Given the description of an element on the screen output the (x, y) to click on. 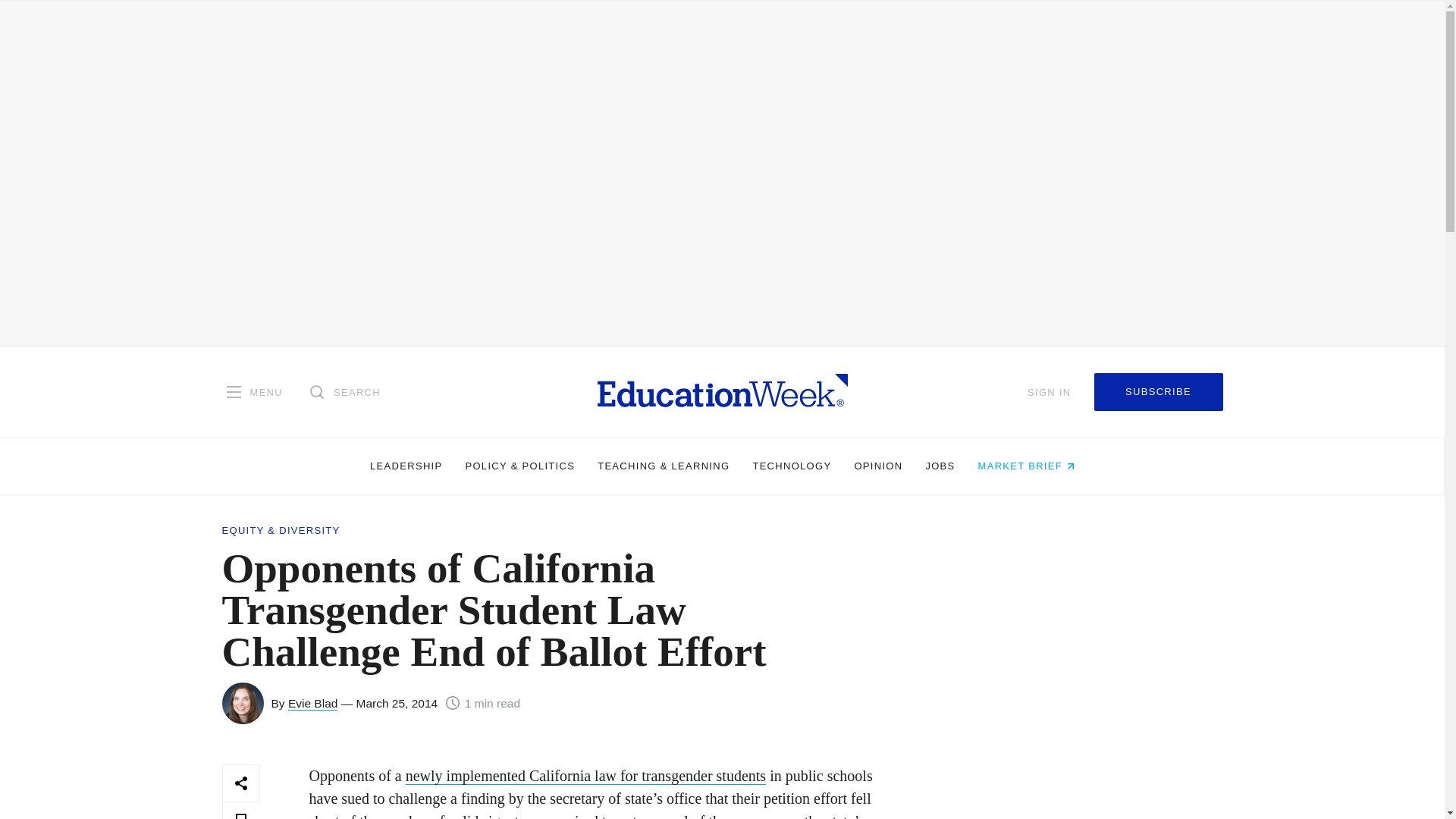
3rd party ad content (1070, 791)
Homepage (721, 391)
